Given the description of an element on the screen output the (x, y) to click on. 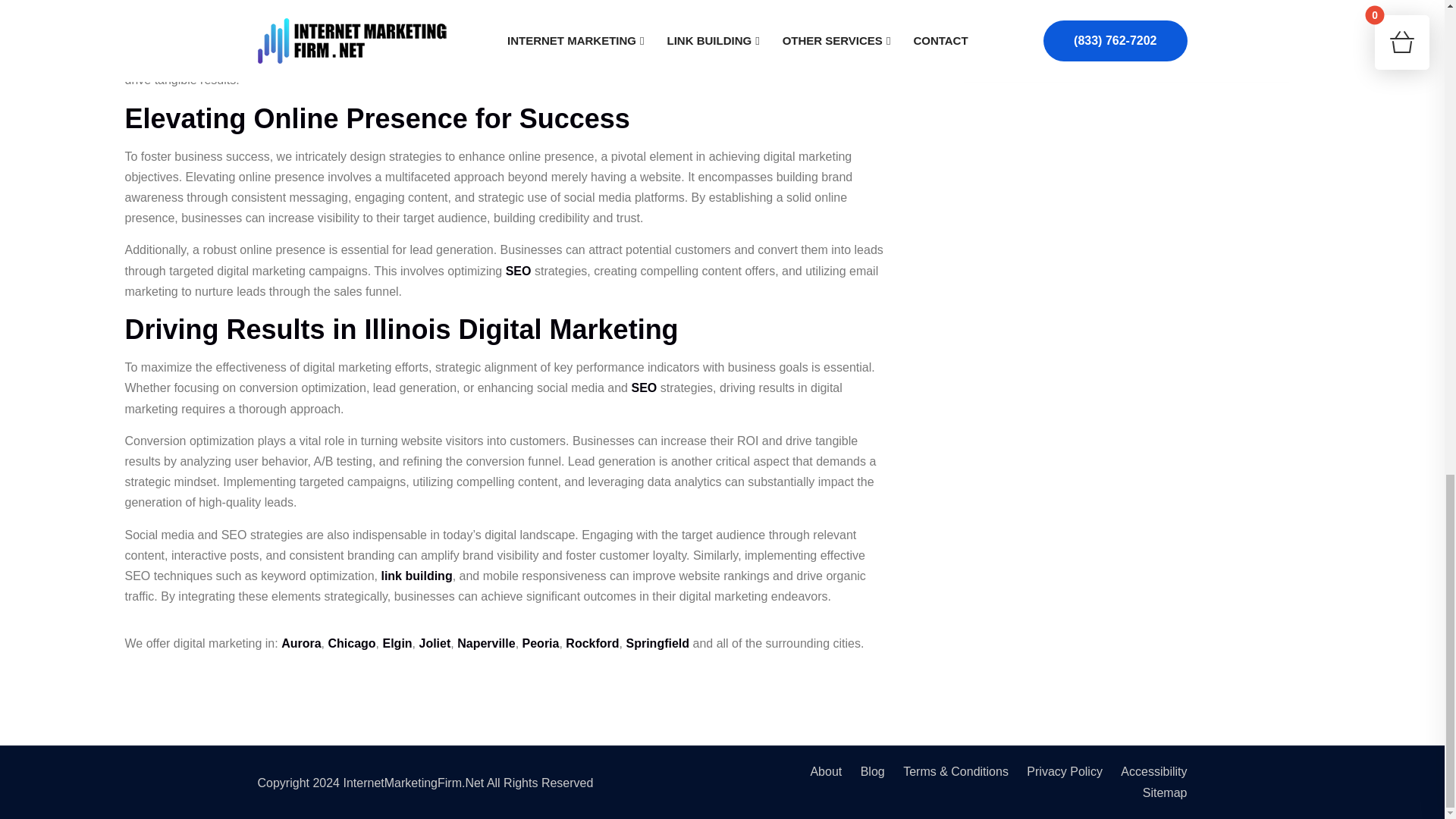
SEO (518, 270)
link building (415, 575)
SEO (643, 387)
